Given the description of an element on the screen output the (x, y) to click on. 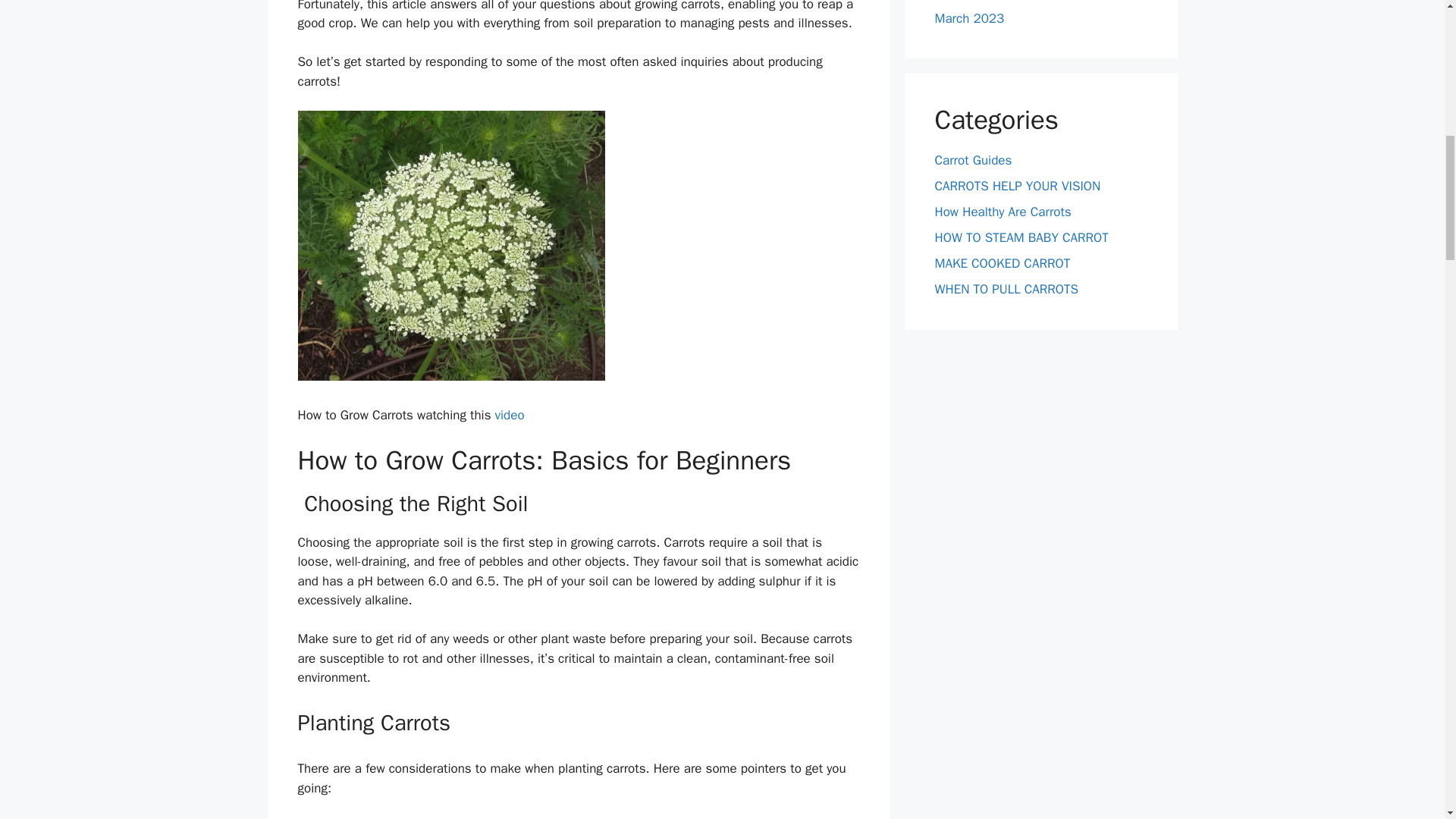
April 2023 (963, 0)
video (509, 415)
